Given the description of an element on the screen output the (x, y) to click on. 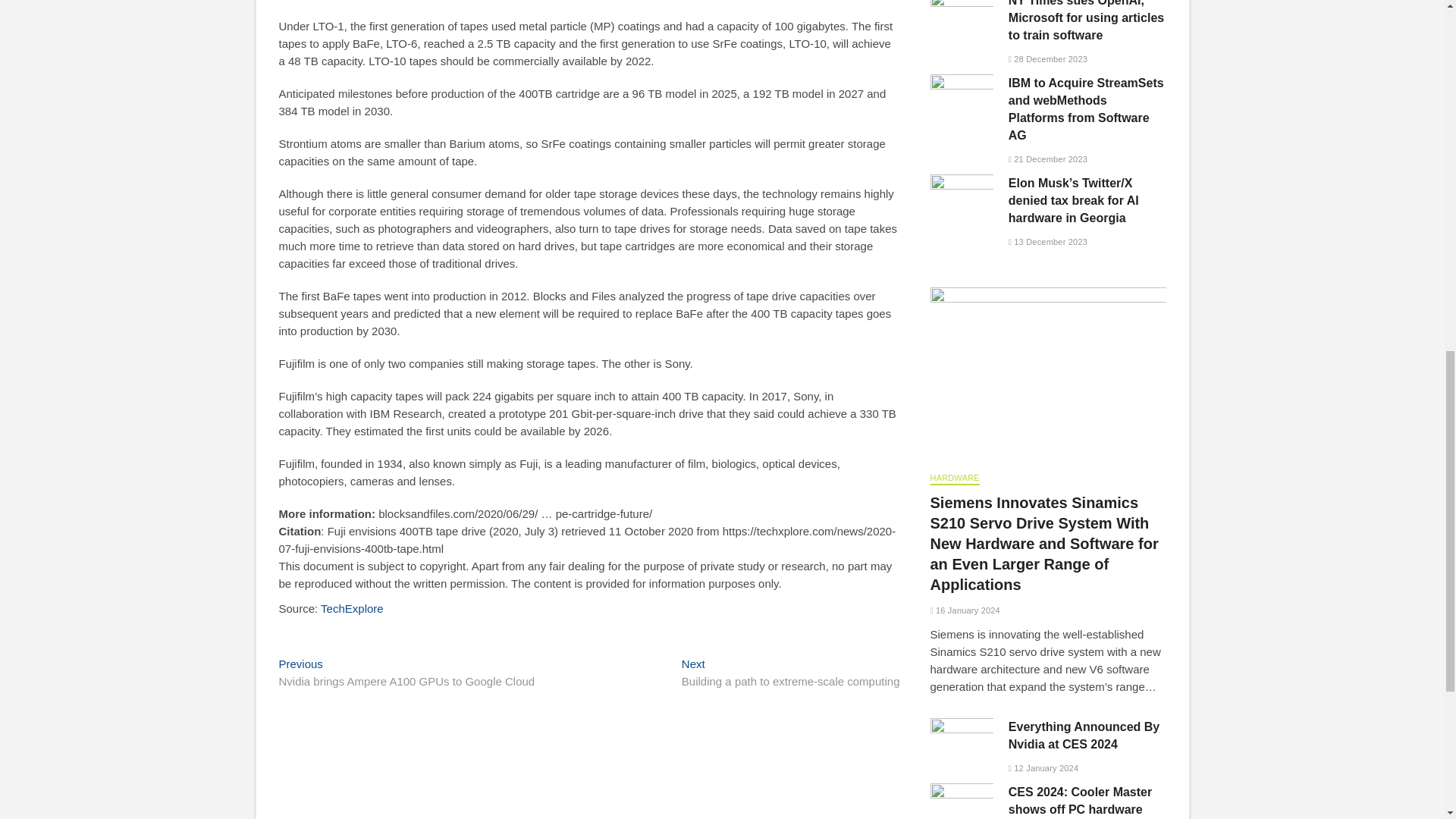
11:00 am (1048, 58)
28 December 2023 (1048, 58)
13 December 2023 (1048, 241)
16 January 2024 (964, 610)
21 December 2023 (1048, 158)
TechExplore (790, 673)
HARDWARE (352, 608)
